Given the description of an element on the screen output the (x, y) to click on. 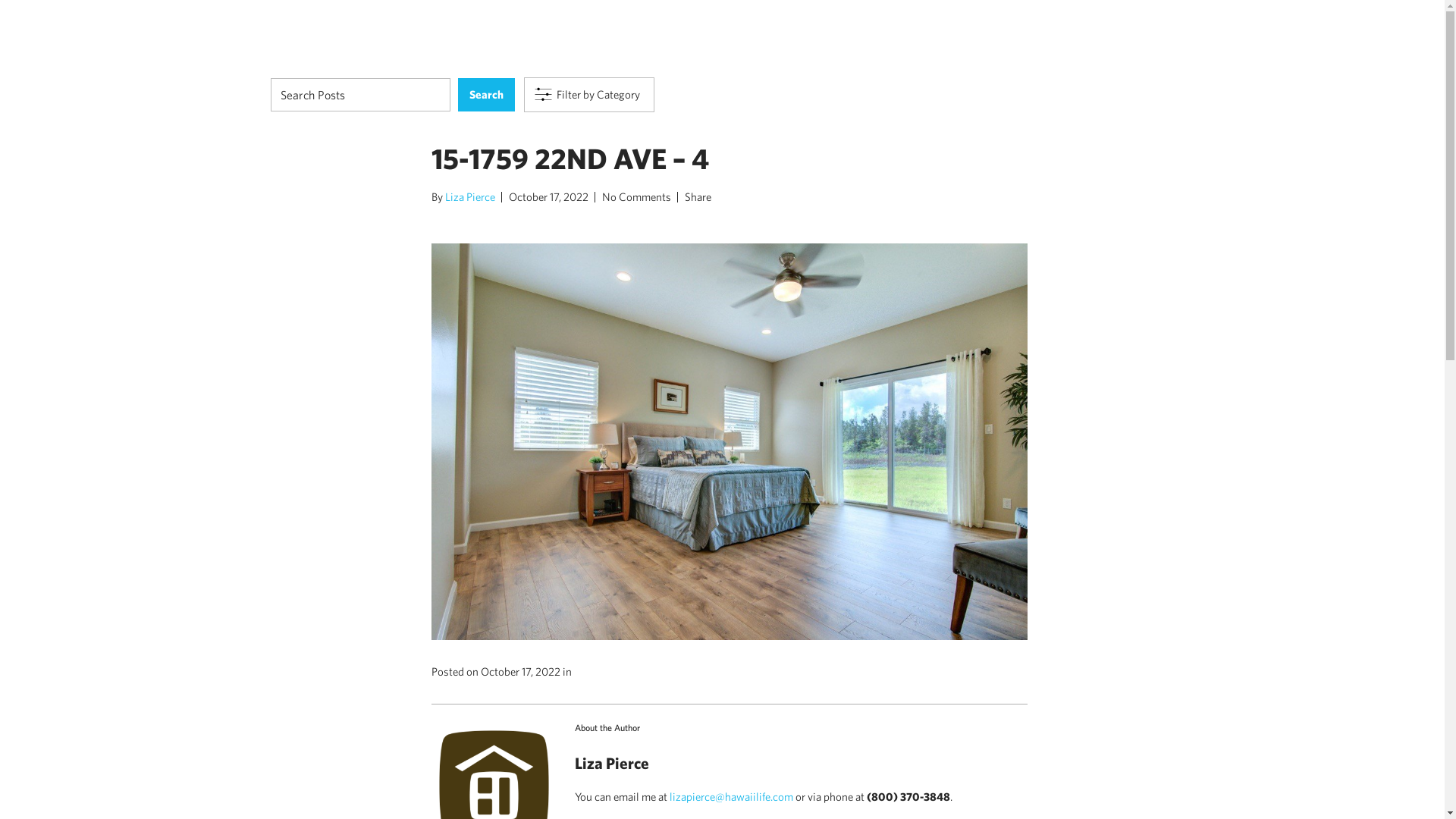
Search (486, 94)
Search (486, 94)
Search (486, 94)
Filter by Category (588, 94)
